Given the description of an element on the screen output the (x, y) to click on. 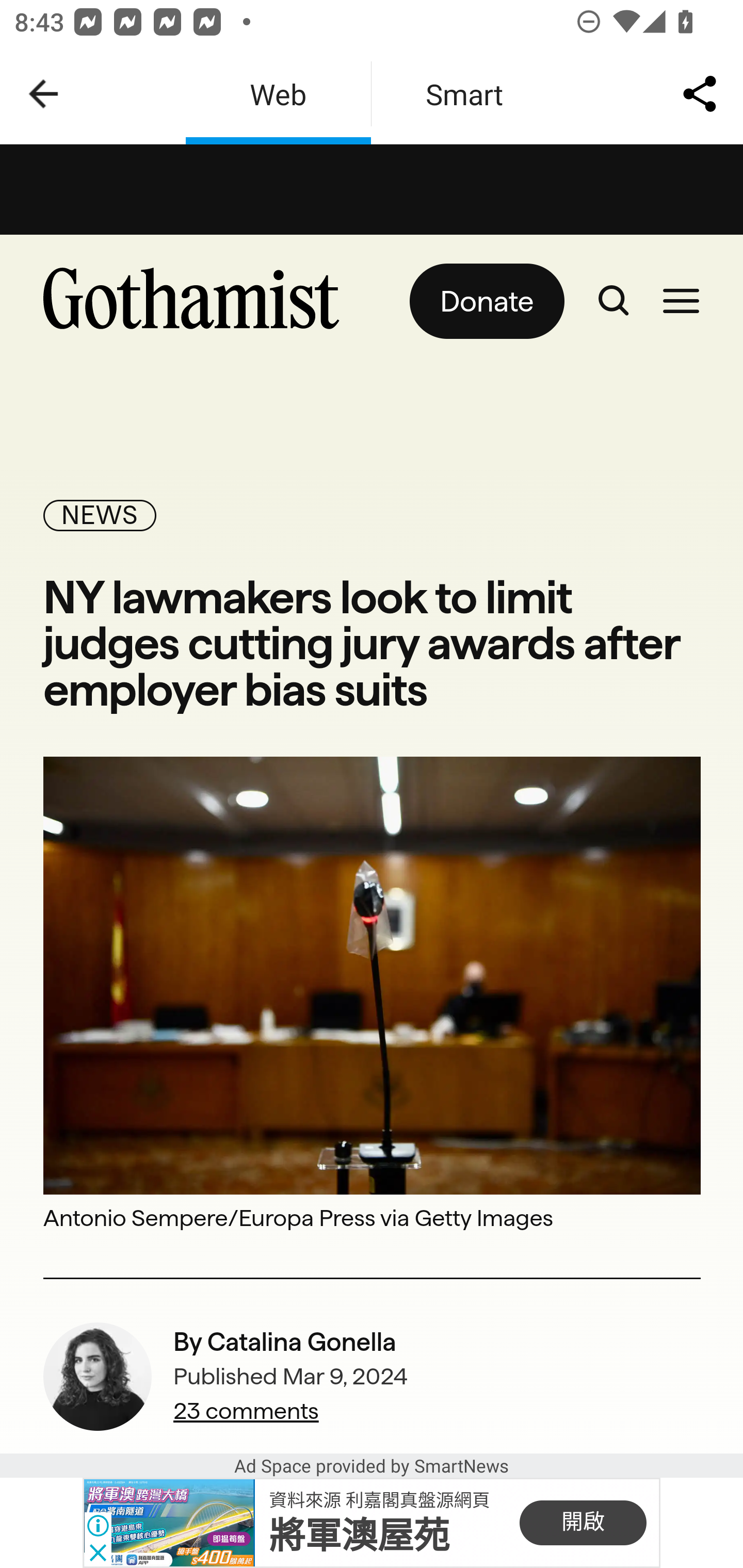
Web (277, 93)
Smart (464, 93)
Donate (485, 300)
Gothamist (199, 300)
Go to search page (612, 300)
Open the navigation menu (681, 300)
NEWS (99, 514)
A microphone in a courtroom. (372, 974)
Antonio Sempere/Europa Press via Getty Images (372, 1217)
Catalina Gonella (301, 1341)
23 comments (291, 1410)
B29047822 (168, 1522)
資料來源 利嘉閣真盤源網頁 (379, 1499)
開啟 (582, 1522)
將軍澳屋苑 (359, 1535)
